Given the description of an element on the screen output the (x, y) to click on. 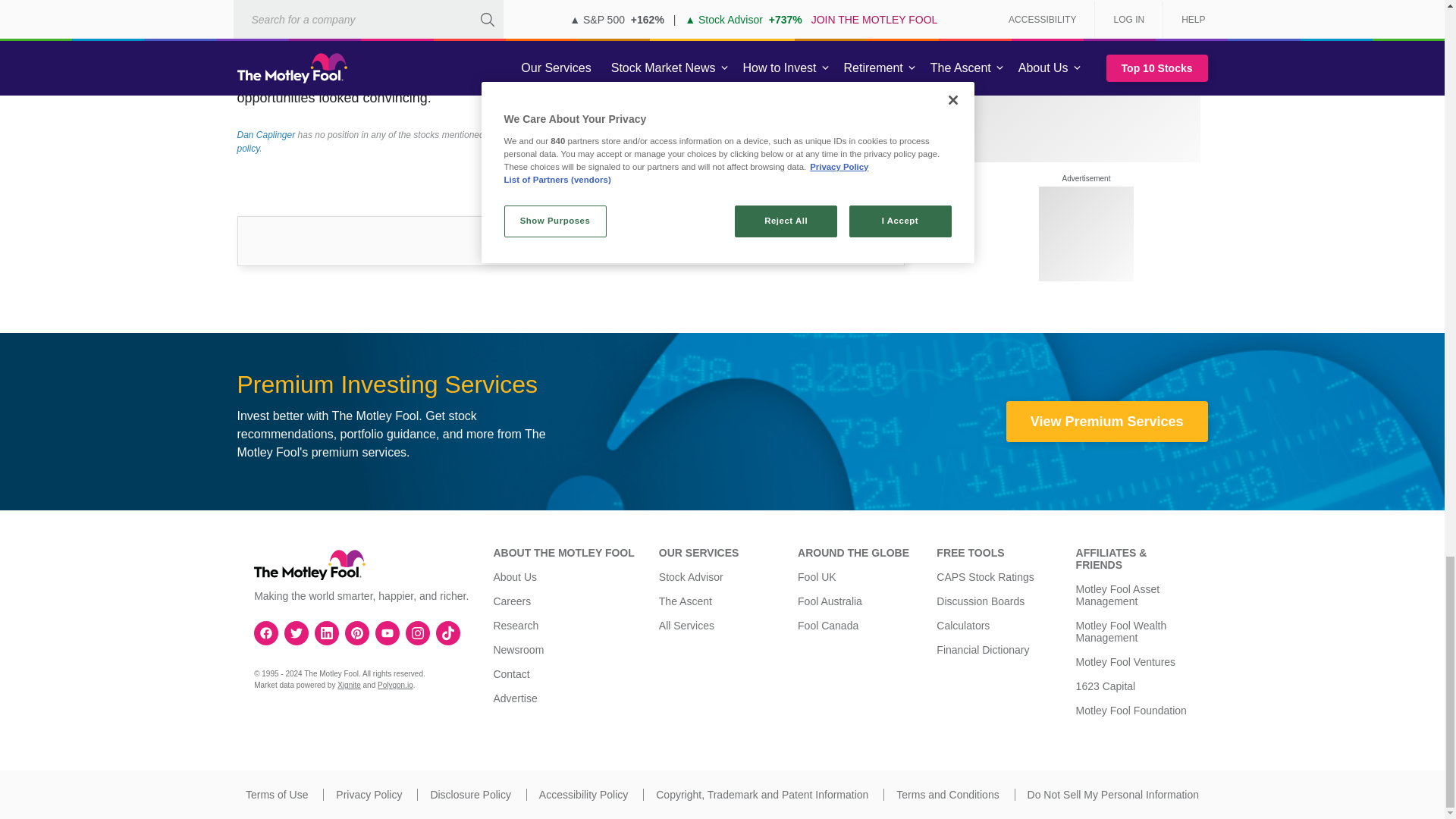
Accessibility Policy (582, 794)
Disclosure Policy (470, 794)
Terms of Use (276, 794)
Privacy Policy (368, 794)
Copyright, Trademark and Patent Information (761, 794)
Do Not Sell My Personal Information. (1112, 794)
Terms and Conditions (947, 794)
